Given the description of an element on the screen output the (x, y) to click on. 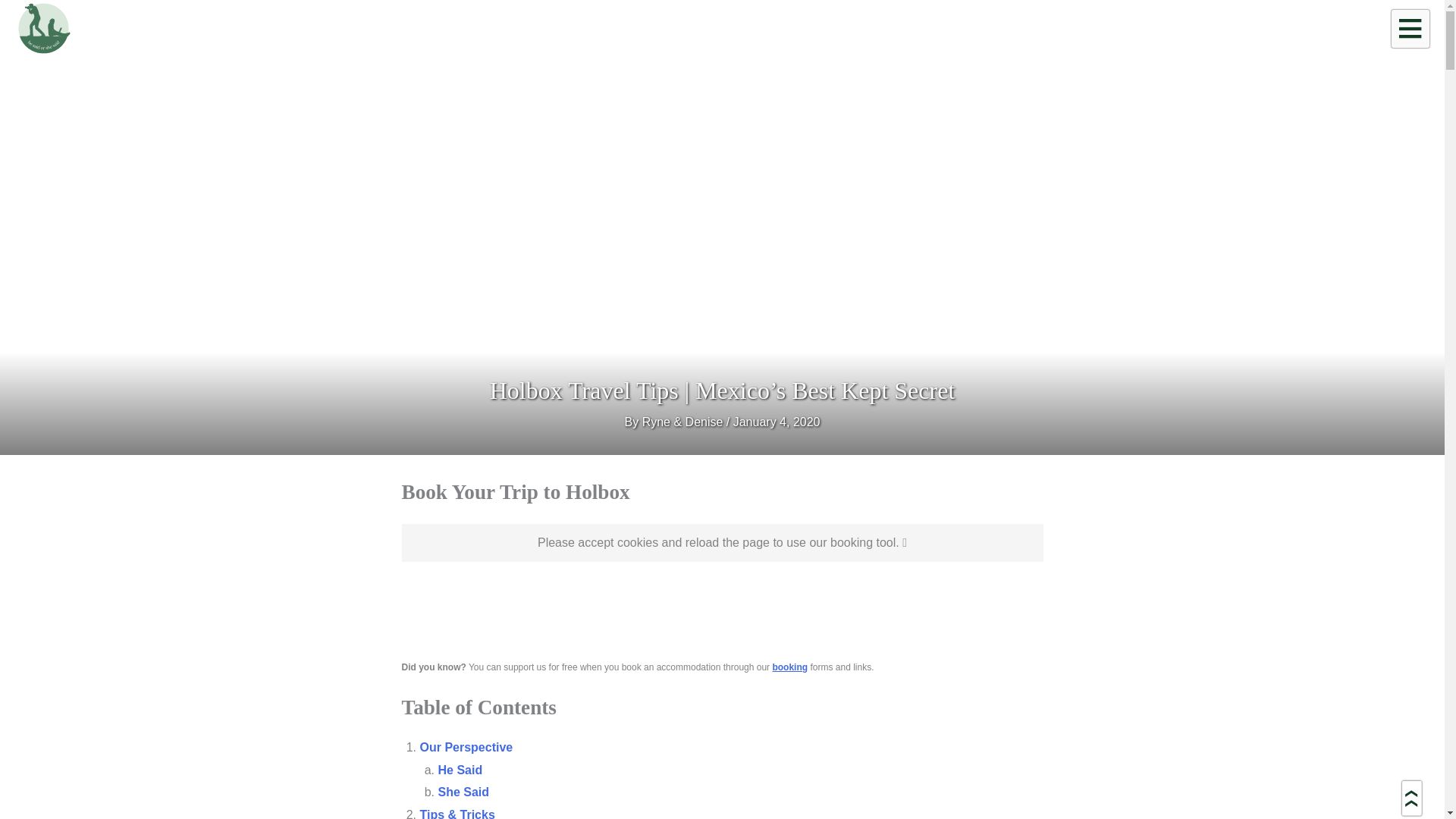
booking (789, 666)
Our Perspective (466, 747)
She Said (463, 791)
He Said (460, 769)
Book accommodations through booking.com (789, 666)
